Given the description of an element on the screen output the (x, y) to click on. 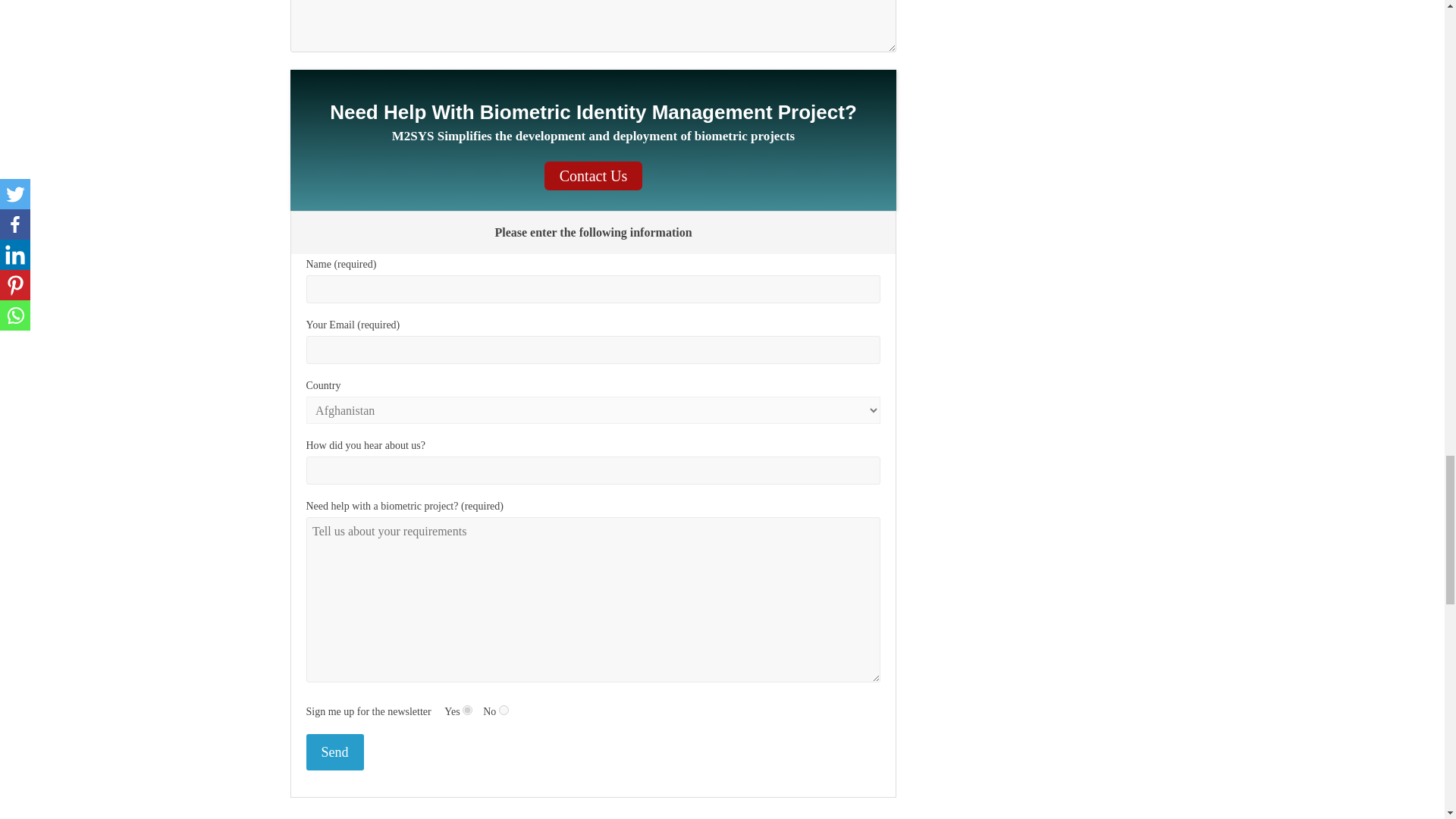
Yes (467, 709)
Send (334, 752)
No (503, 709)
